Given the description of an element on the screen output the (x, y) to click on. 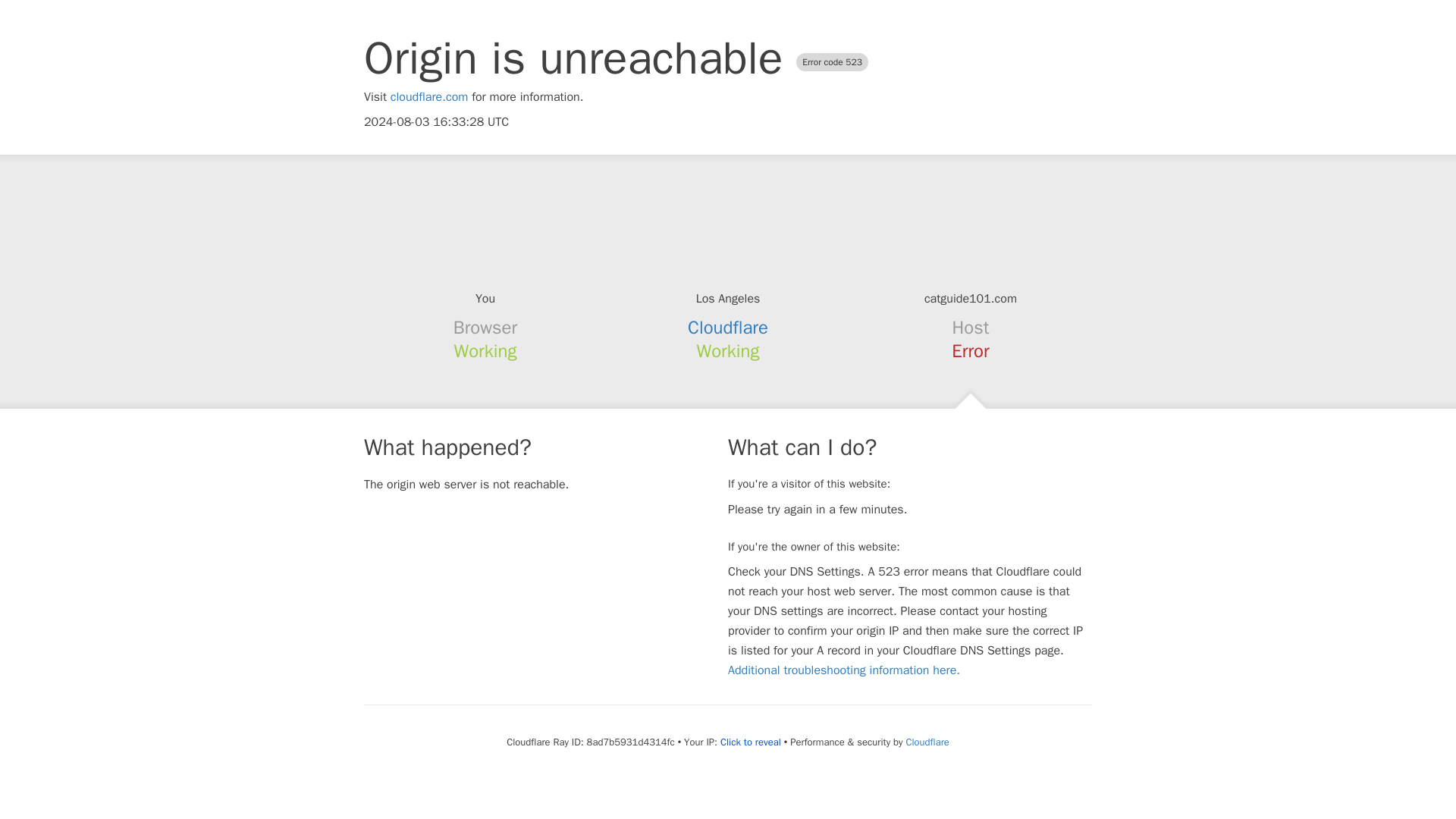
Additional troubleshooting information here. (843, 670)
cloudflare.com (429, 96)
Cloudflare (727, 327)
Cloudflare (927, 741)
Click to reveal (750, 742)
